Given the description of an element on the screen output the (x, y) to click on. 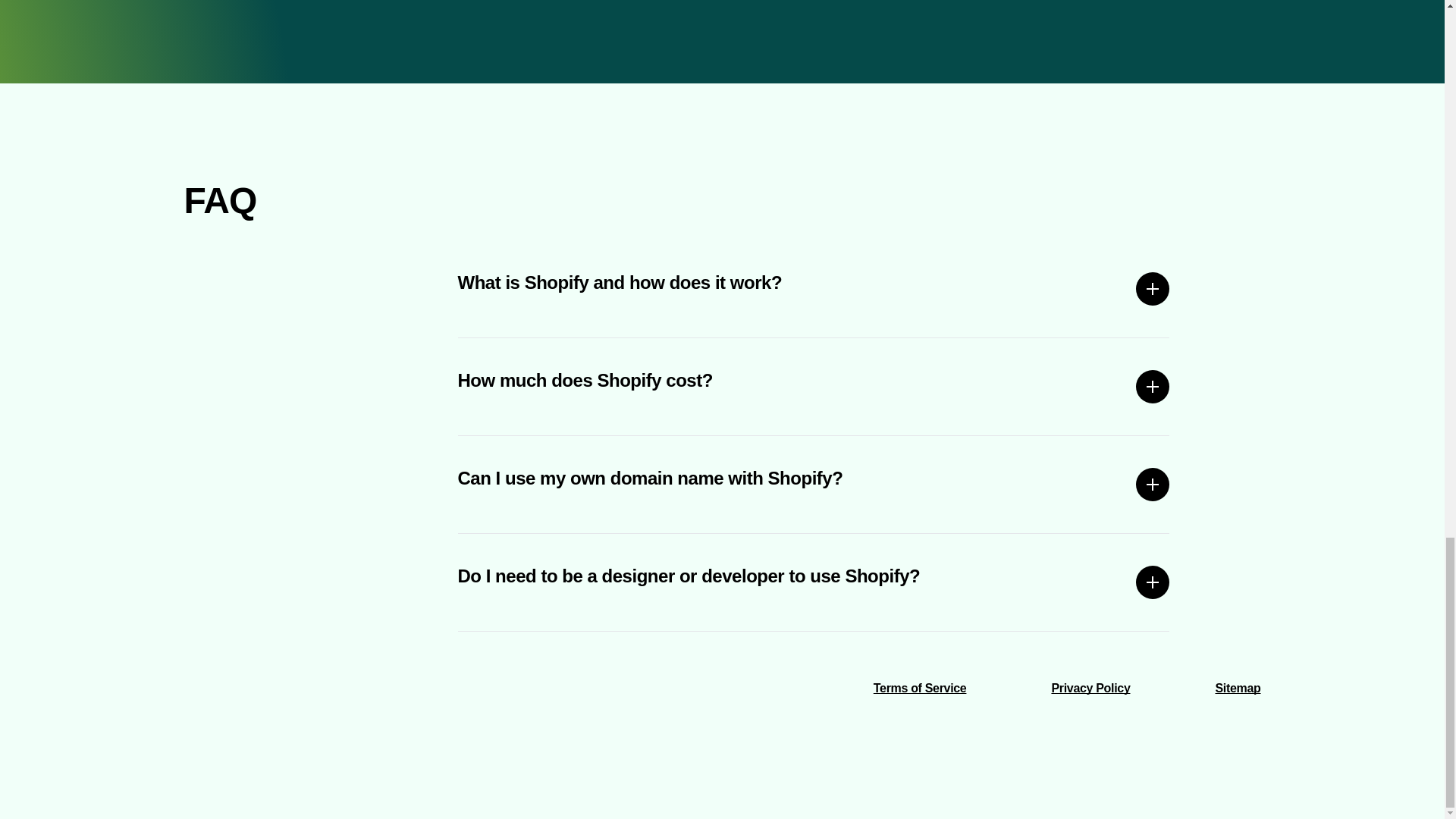
Terms of Service (919, 687)
Can I use my own domain name with Shopify? (814, 484)
What is Shopify and how does it work? (814, 289)
How much does Shopify cost? (814, 386)
Privacy Policy (1090, 687)
Sitemap (1237, 687)
Do I need to be a designer or developer to use Shopify? (814, 582)
